Given the description of an element on the screen output the (x, y) to click on. 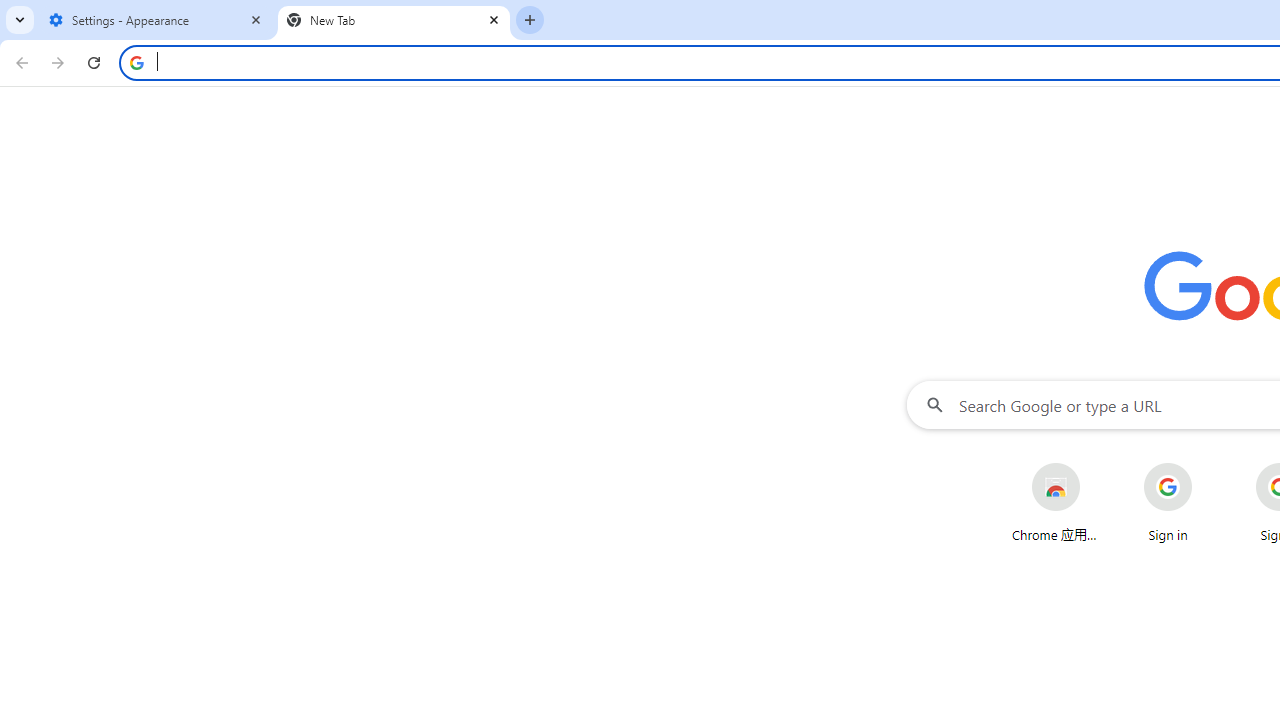
More actions for Sign in shortcut (1208, 464)
Settings - Appearance (156, 20)
New Tab (394, 20)
